Given the description of an element on the screen output the (x, y) to click on. 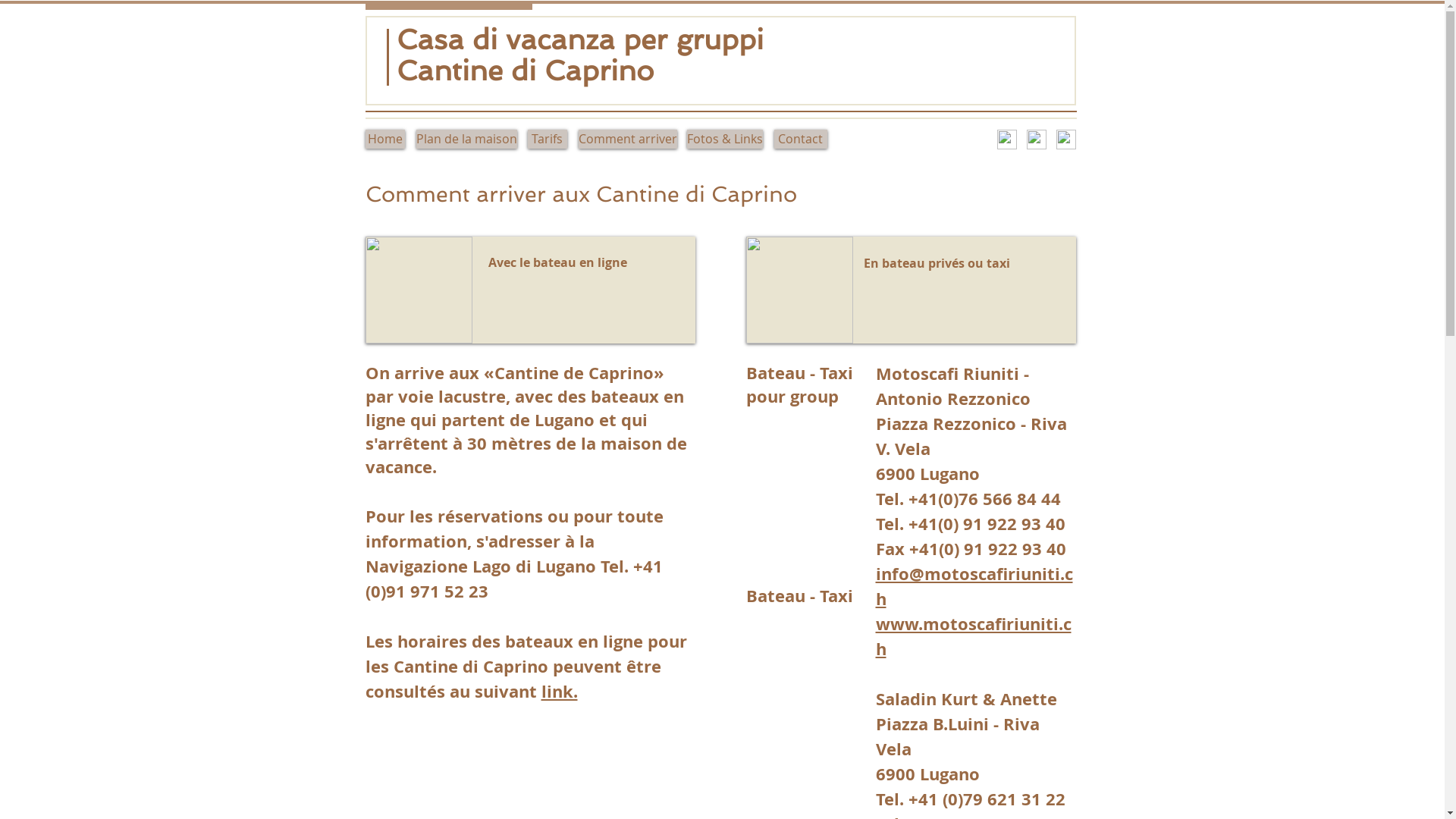
Fotos & Links Element type: text (724, 138)
link. Element type: text (559, 690)
Contact Element type: text (799, 138)
www.motoscafiriuniti.ch Element type: text (972, 635)
info@motoscafiriuniti.ch Element type: text (973, 585)
Comment arriver Element type: text (626, 138)
Fenice1.jpg Element type: hover (799, 289)
battello.jpg Element type: hover (418, 289)
Home Element type: text (384, 138)
Tarifs Element type: text (547, 138)
Plan de la maison Element type: text (465, 138)
